Given the description of an element on the screen output the (x, y) to click on. 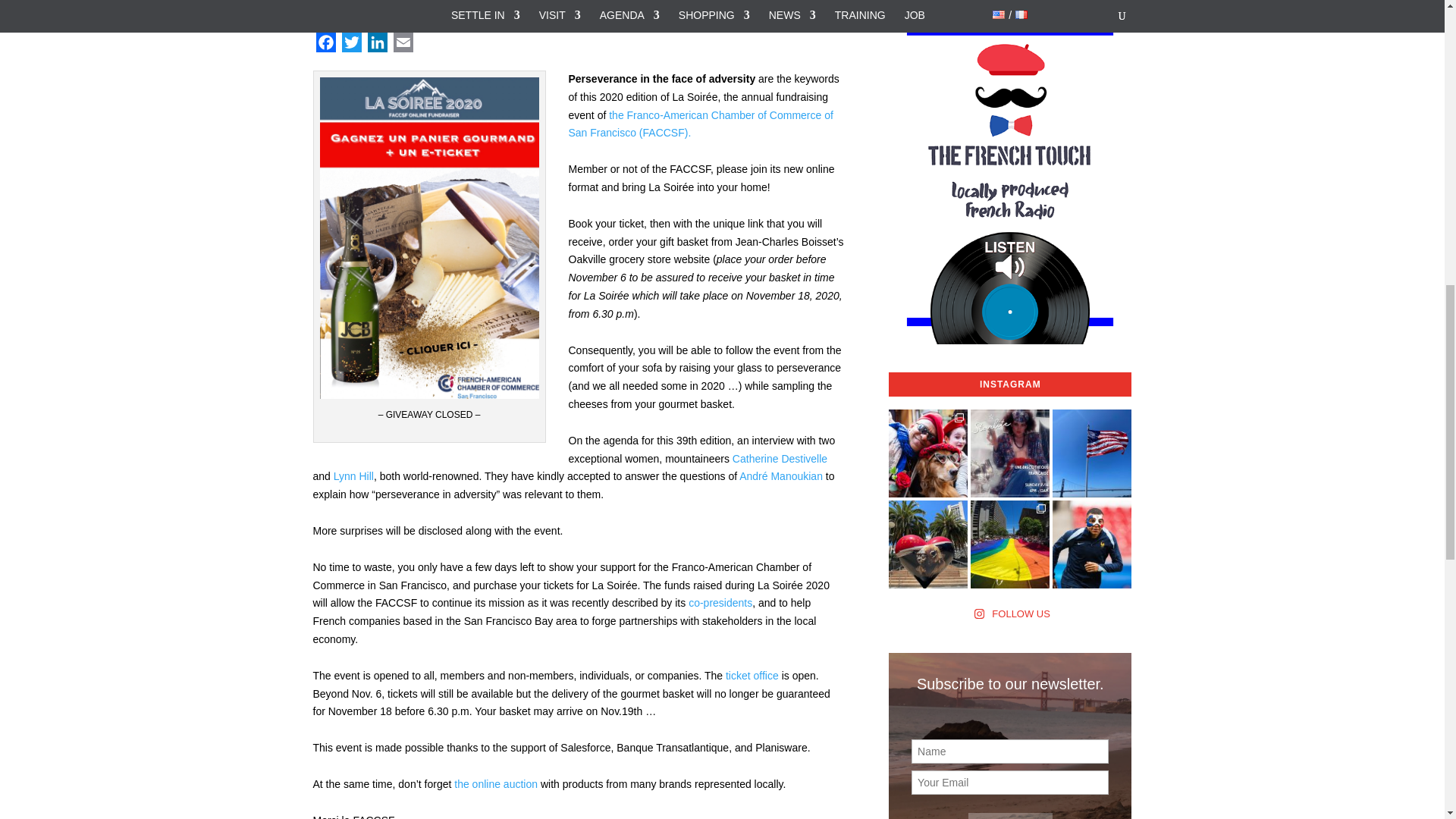
Email (402, 45)
Facebook (325, 45)
Subscribe (1010, 816)
LinkedIn (377, 45)
Twitter (350, 45)
